Given the description of an element on the screen output the (x, y) to click on. 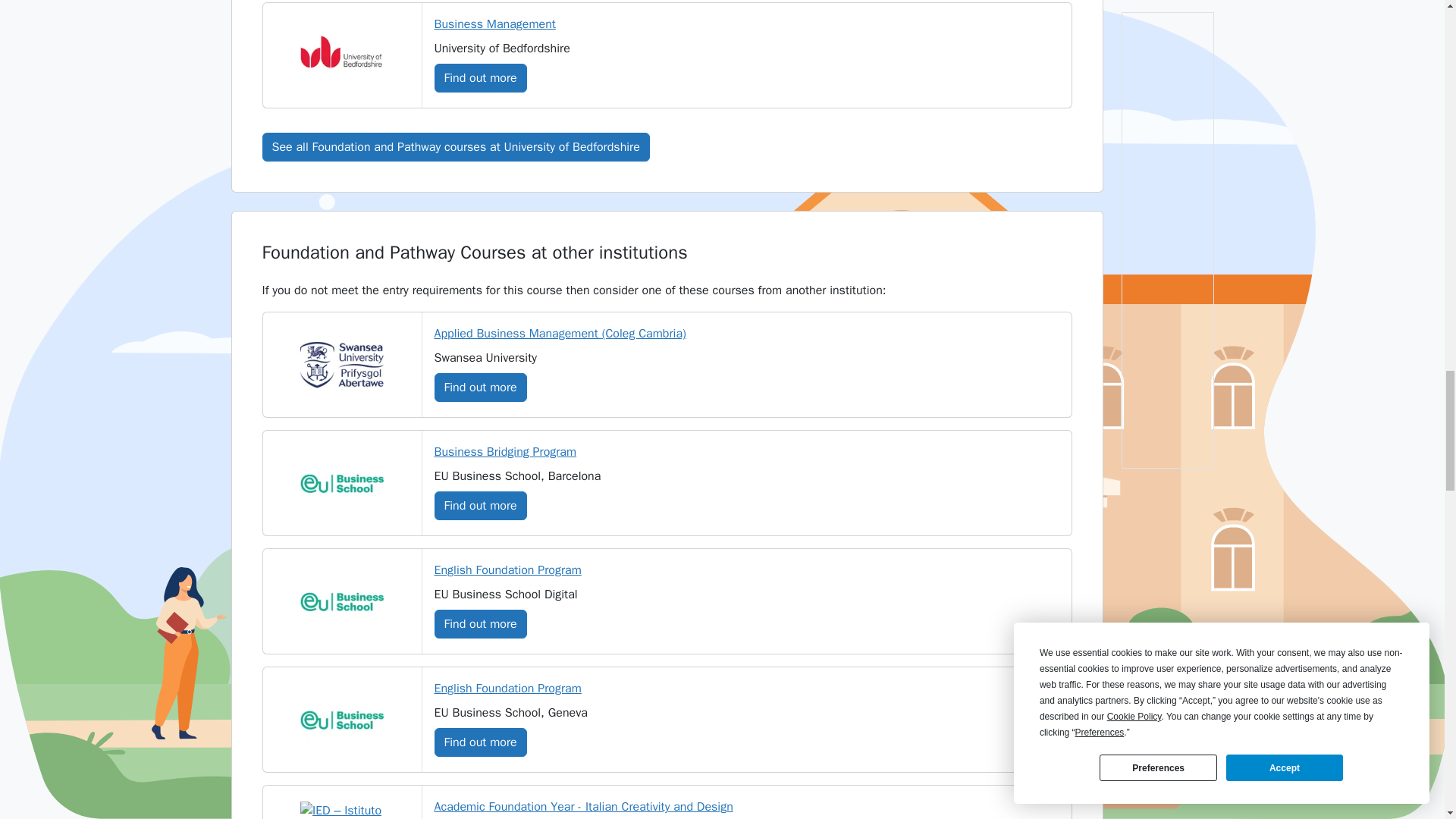
EU Business School, Barcelona (341, 483)
University of Bedfordshire (341, 54)
Swansea University (341, 365)
EU Business School Digital (341, 601)
EU Business School, Geneva (341, 719)
